Given the description of an element on the screen output the (x, y) to click on. 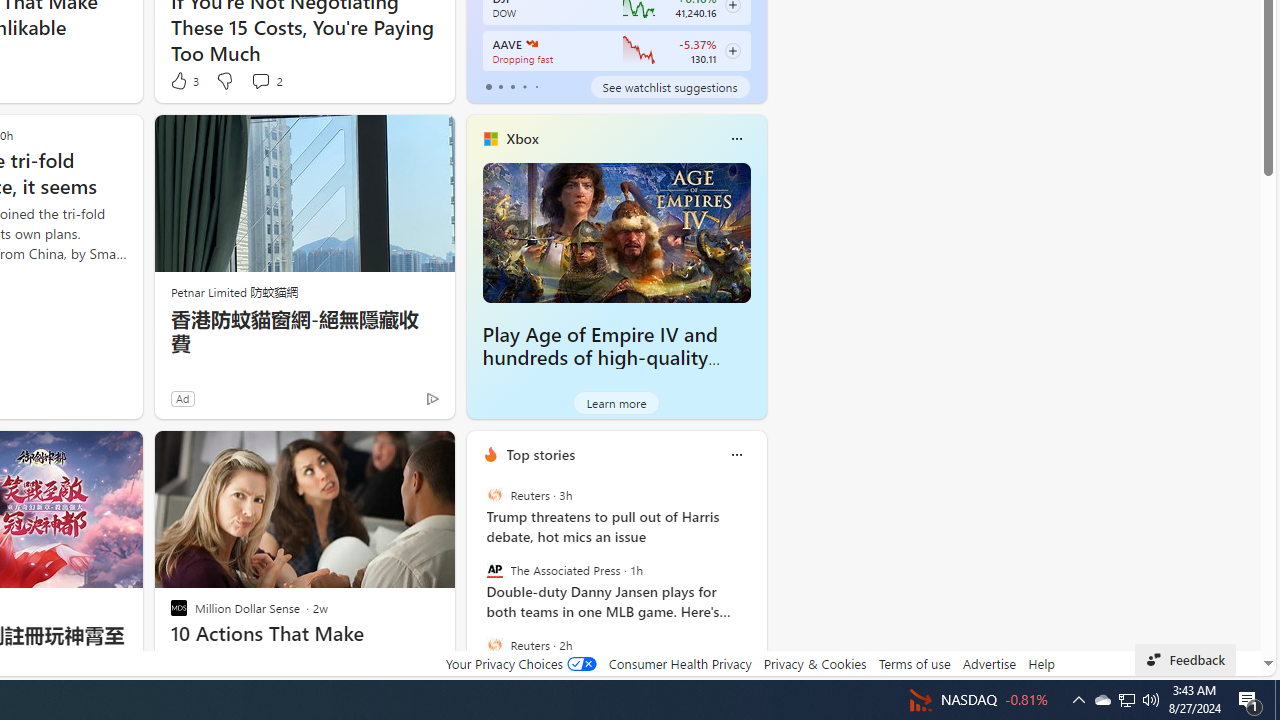
See watchlist suggestions (669, 86)
Top stories (540, 454)
tab-3 (524, 86)
Aave (530, 43)
Terms of use (914, 663)
tab-0 (488, 86)
View comments 2 Comment (265, 80)
3 Like (183, 80)
tab-1 (500, 86)
